Given the description of an element on the screen output the (x, y) to click on. 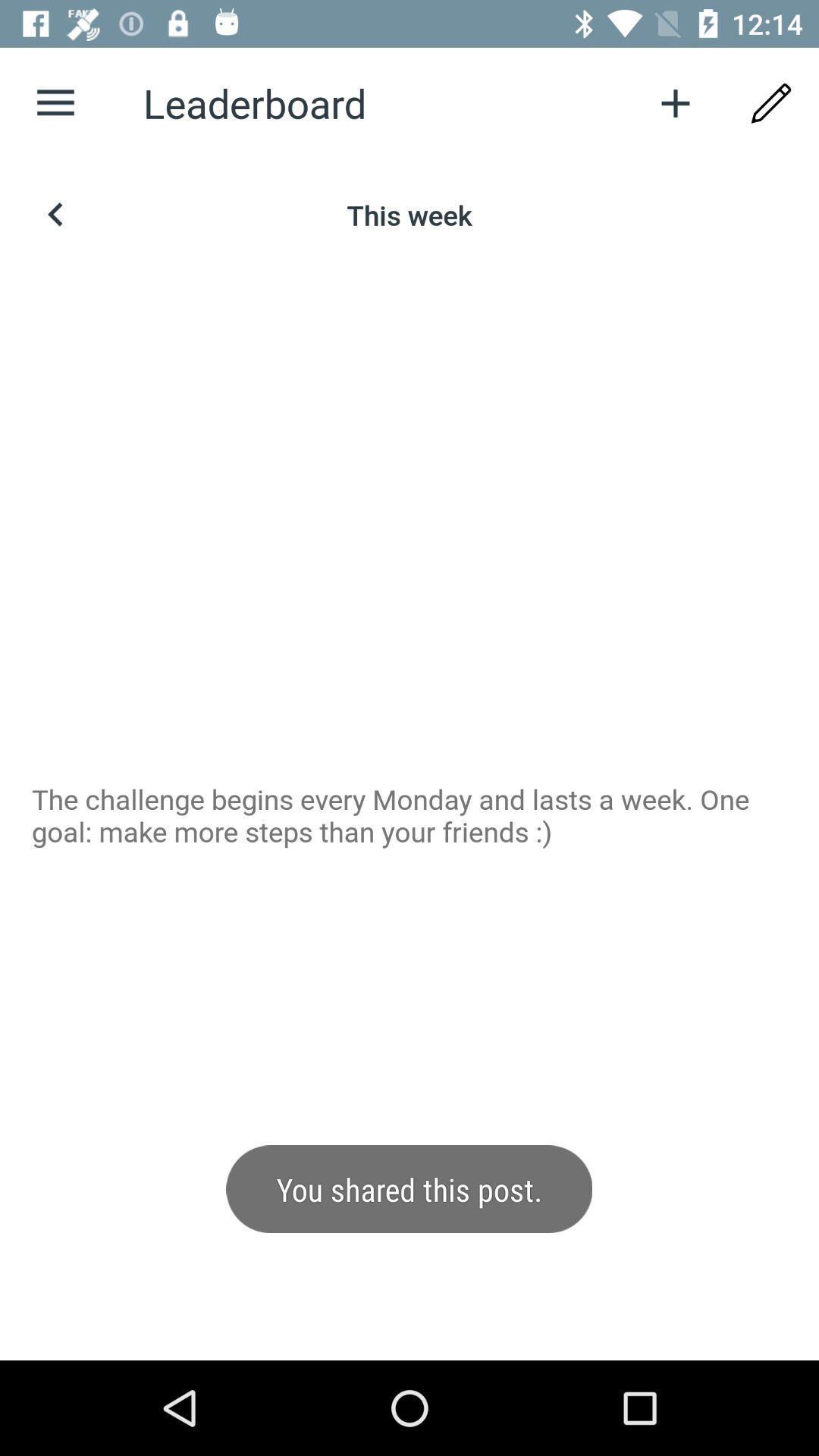
go back (55, 214)
